Given the description of an element on the screen output the (x, y) to click on. 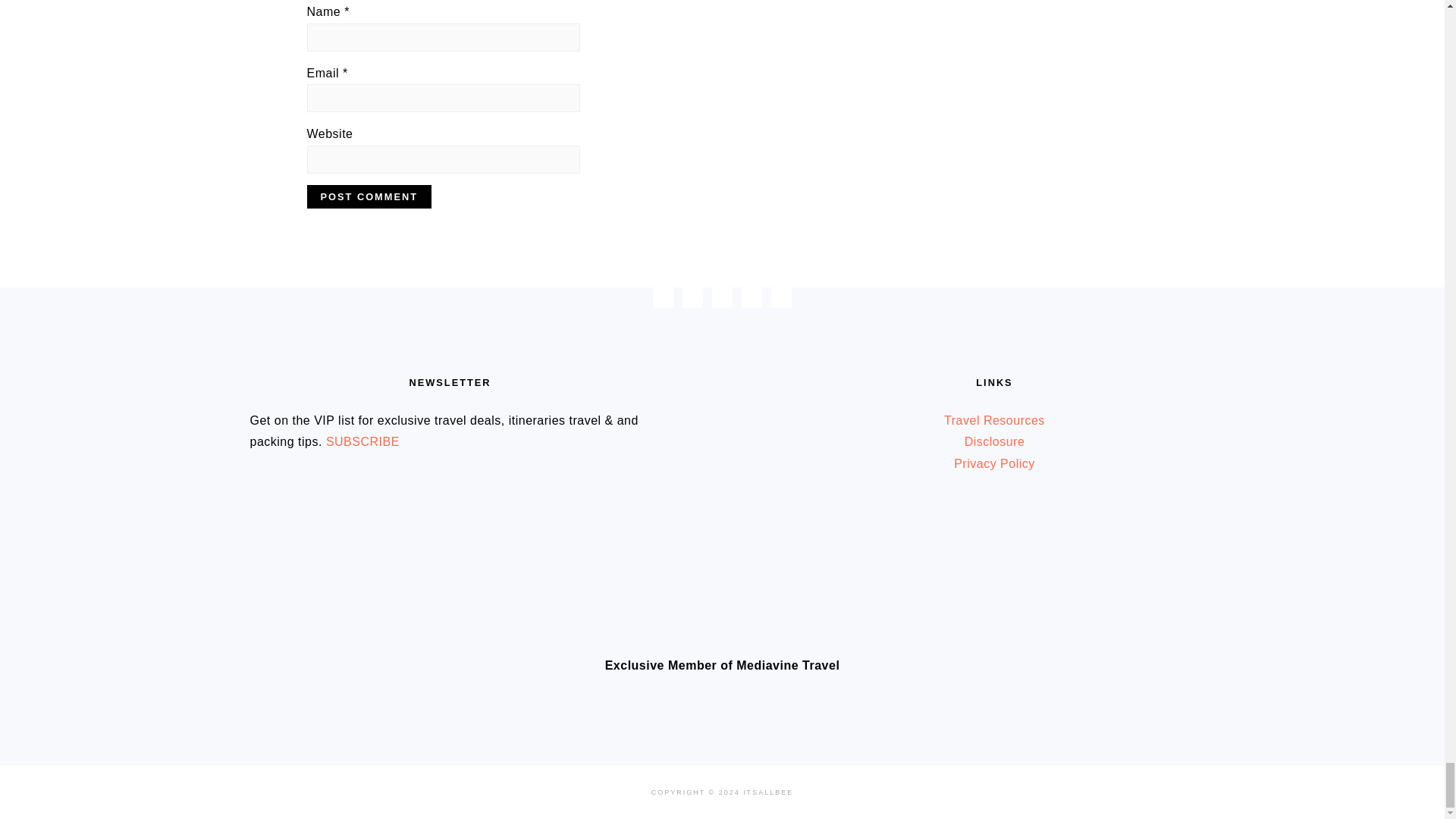
Post Comment (367, 196)
